Given the description of an element on the screen output the (x, y) to click on. 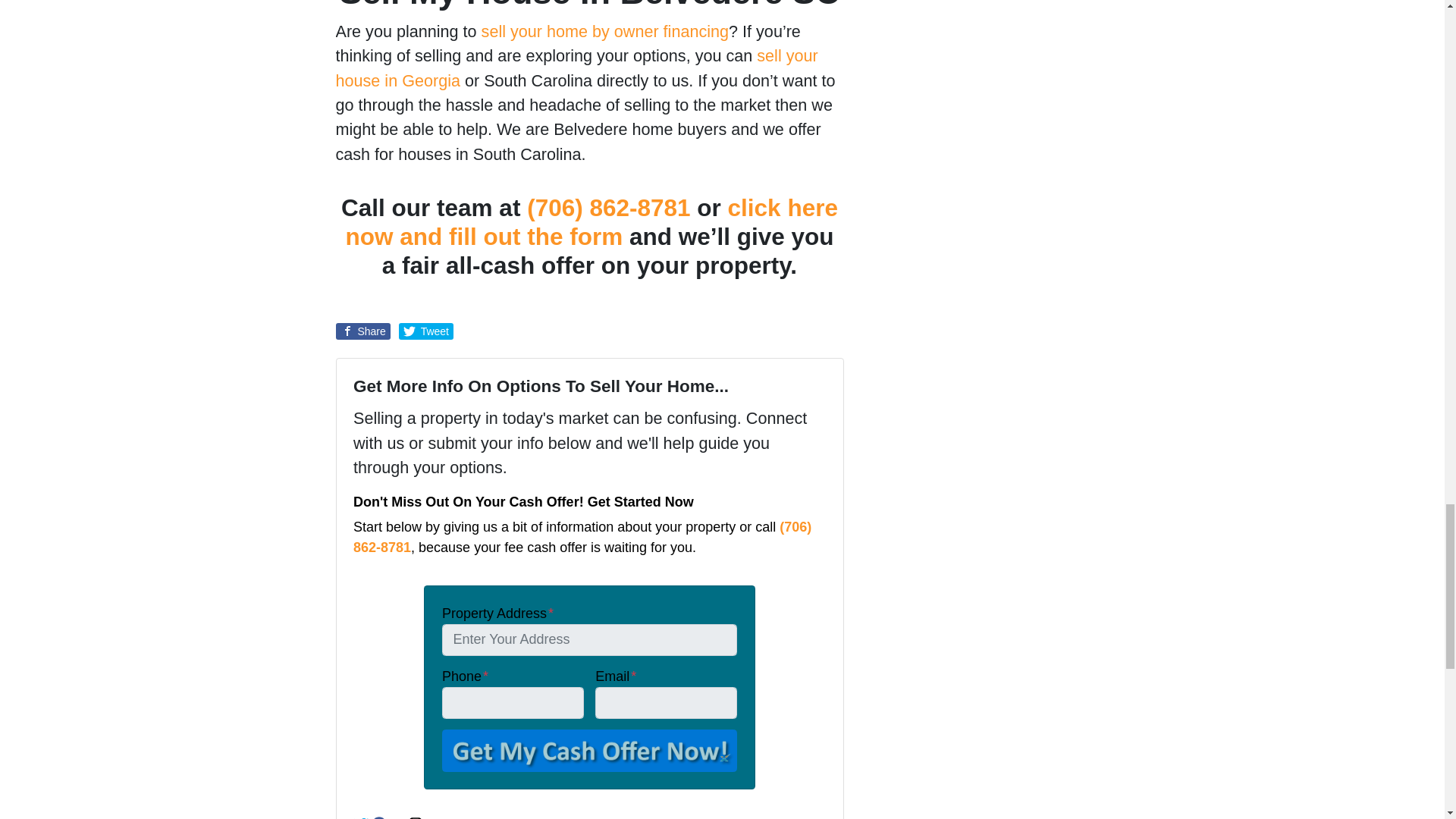
Instagram (415, 817)
Share on Facebook (362, 330)
Facebook (379, 817)
YouTube (397, 817)
sell your home by owner financing (605, 31)
sell your house in Georgia (575, 67)
Twitter (360, 817)
Share (362, 330)
click here now and fill out the form (591, 222)
Tweet (425, 330)
